Given the description of an element on the screen output the (x, y) to click on. 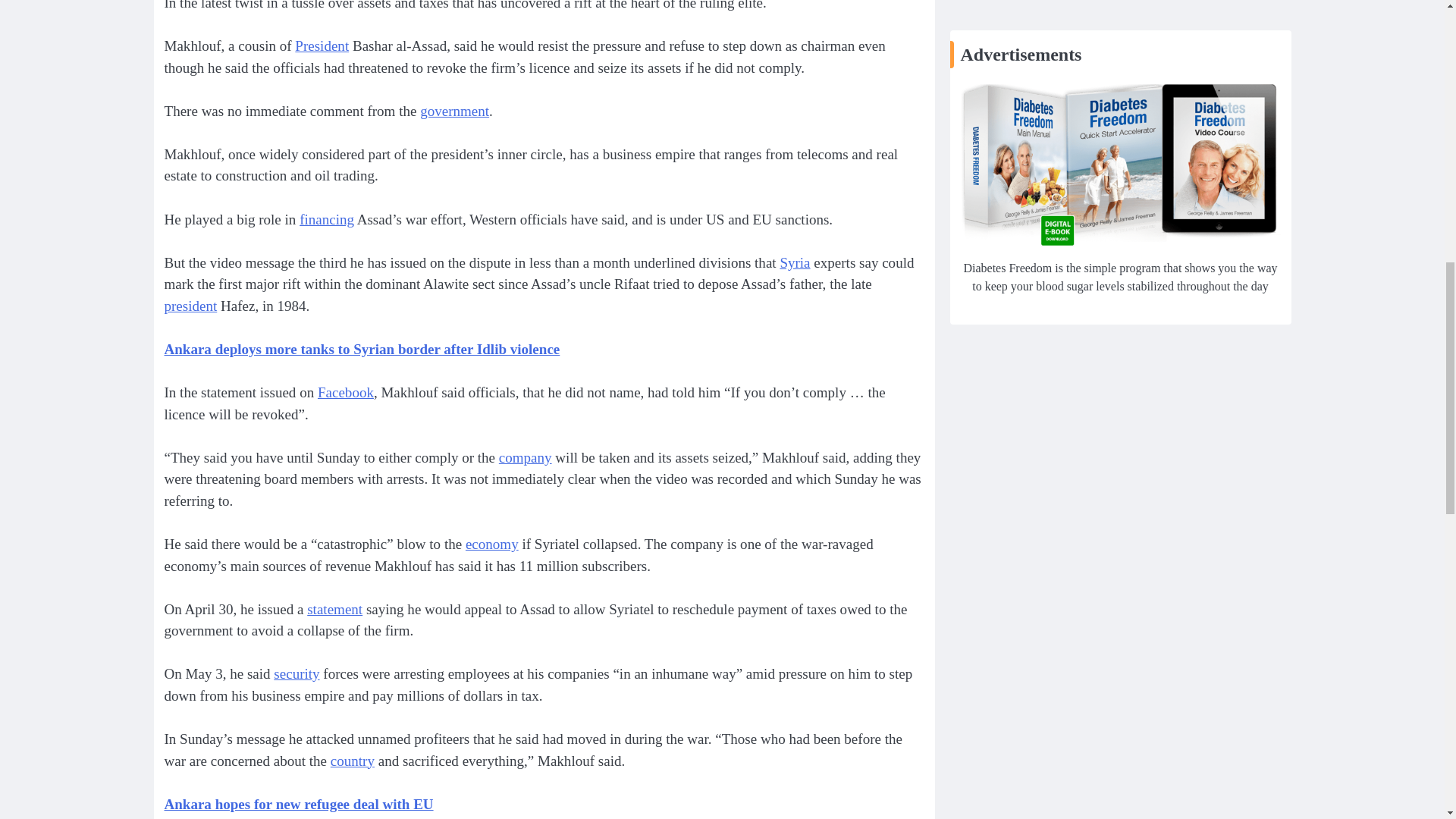
statement (334, 609)
president (189, 305)
financing (326, 219)
Syria (793, 262)
country (352, 760)
economy (491, 544)
Facebook (345, 392)
government (454, 110)
security (295, 673)
